Given the description of an element on the screen output the (x, y) to click on. 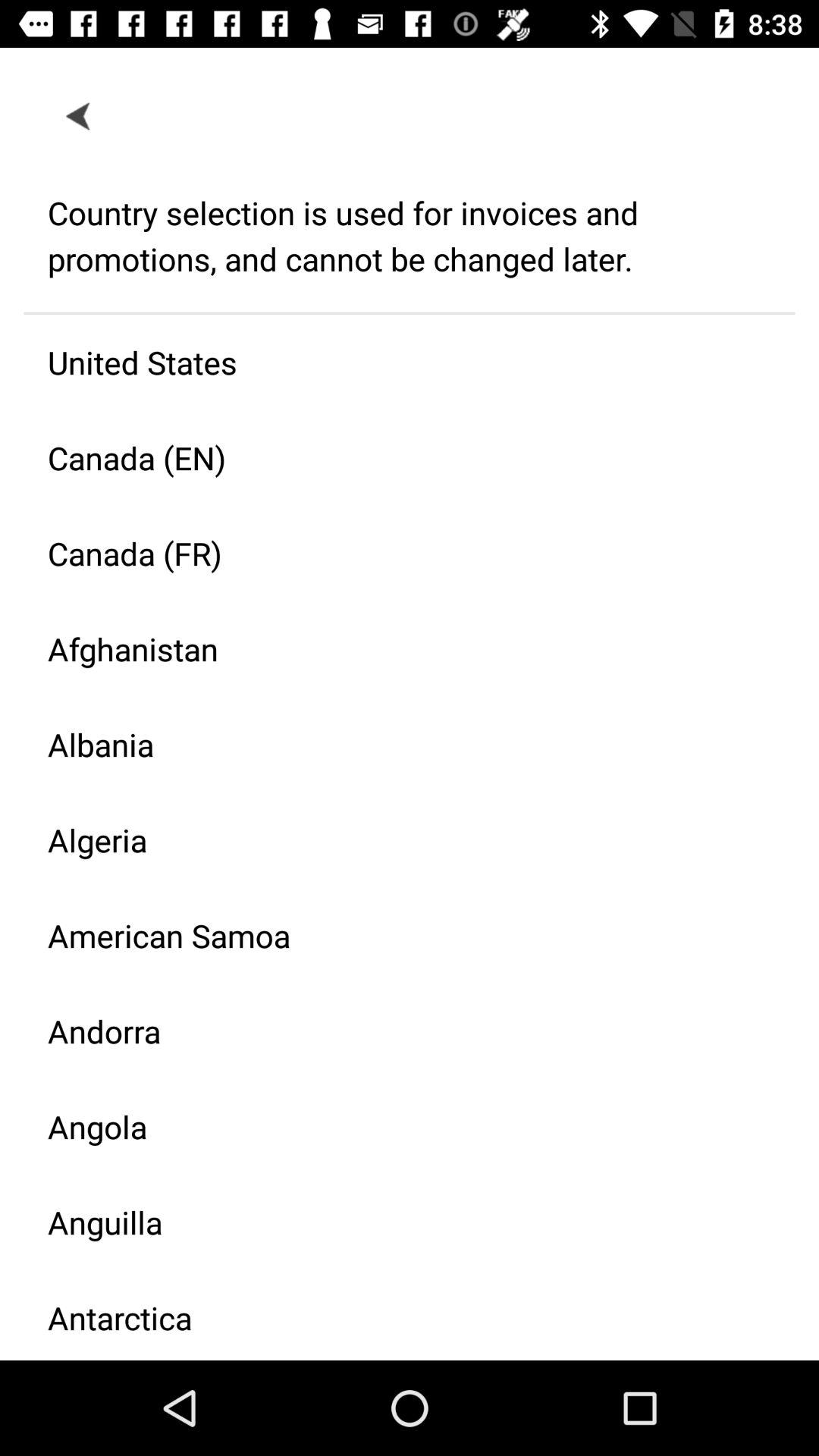
go back (79, 115)
